Given the description of an element on the screen output the (x, y) to click on. 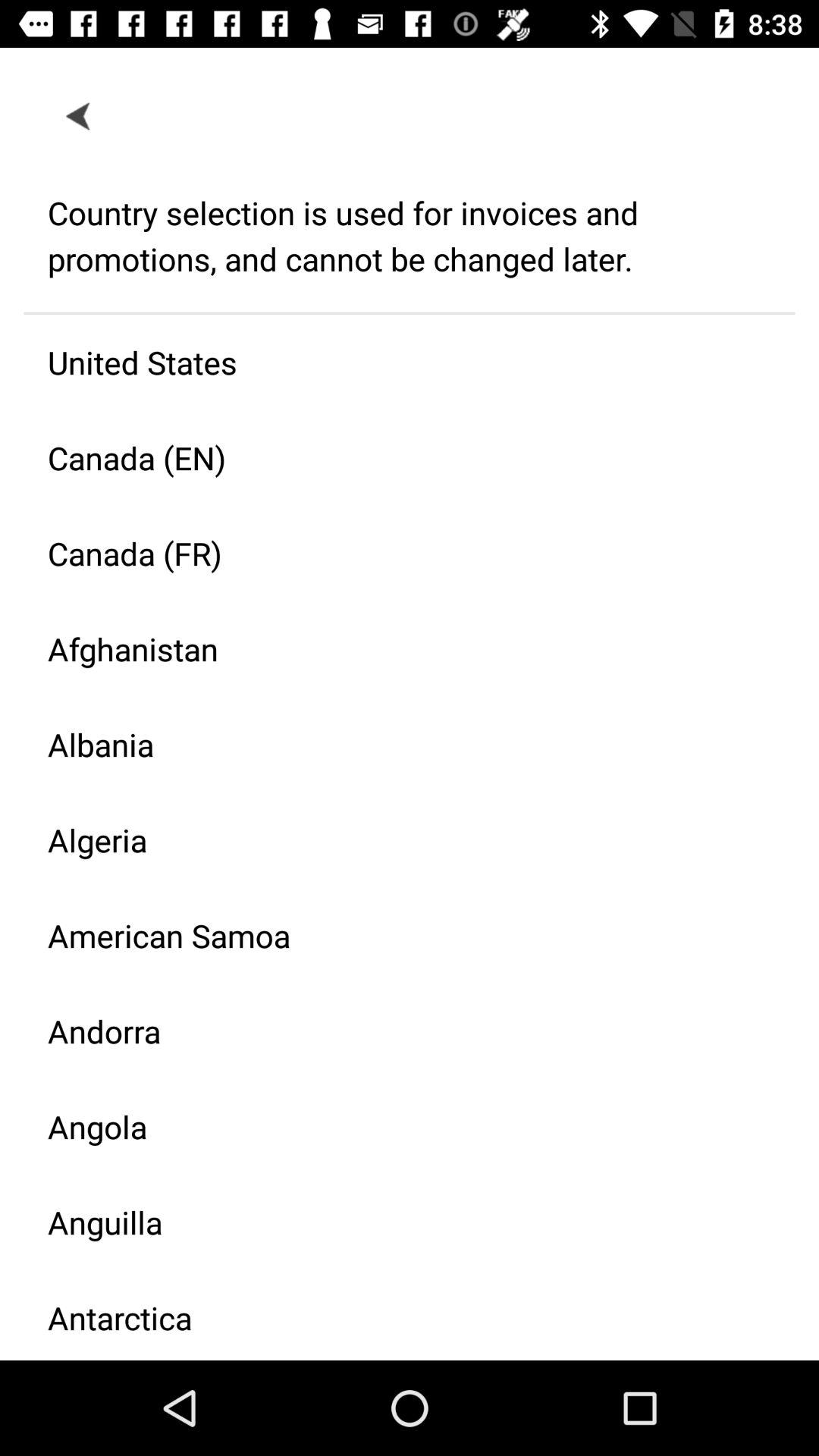
go back (79, 115)
